Given the description of an element on the screen output the (x, y) to click on. 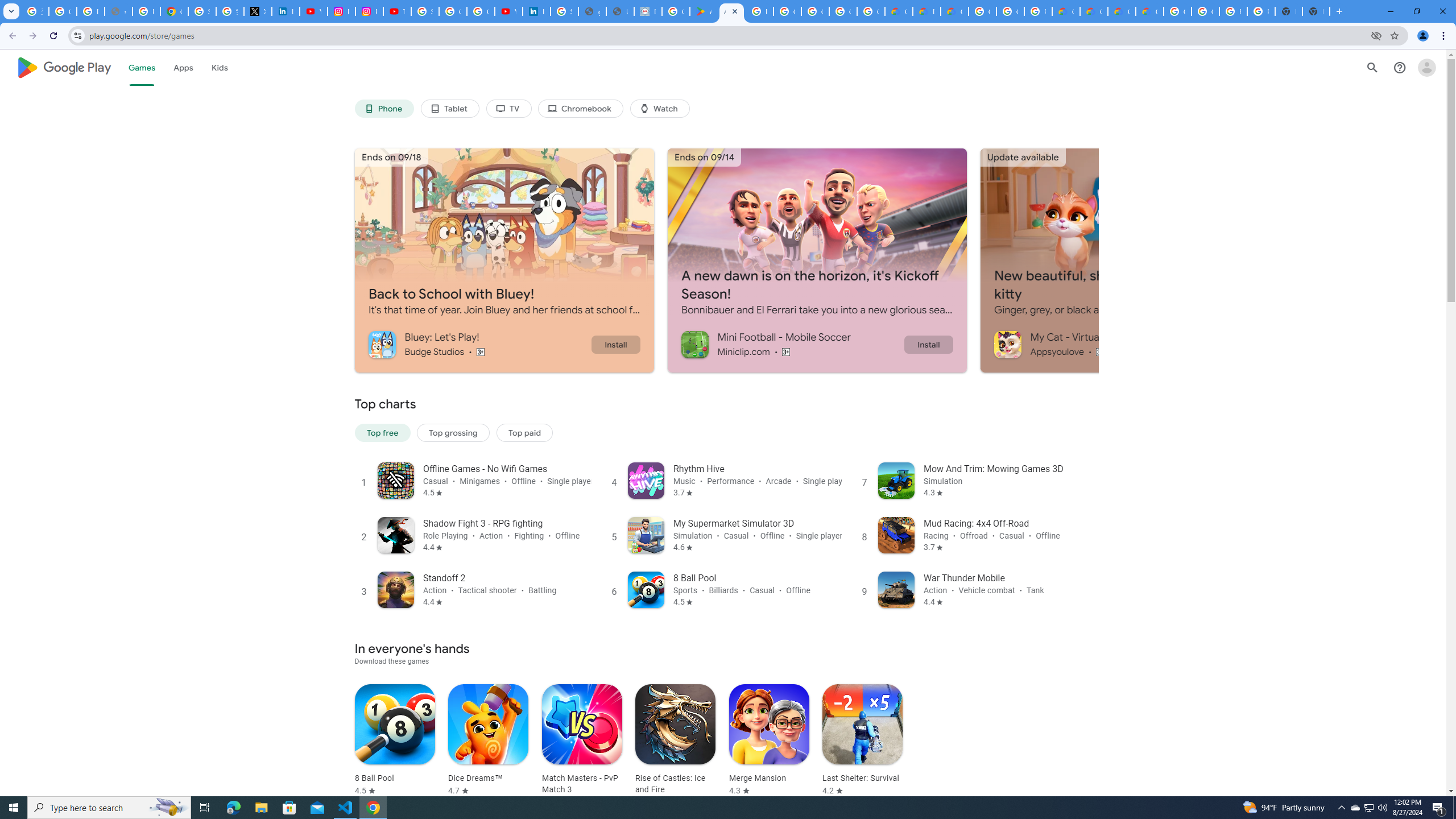
Google Cloud Pricing Calculator (1093, 11)
Google Cloud Service Health (1150, 11)
Sign in - Google Accounts (202, 11)
Google Workspace - Specific Terms (842, 11)
Content rating Rated for 3+ (1100, 351)
Google Play logo (64, 67)
Google Workspace - Specific Terms (870, 11)
